Given the description of an element on the screen output the (x, y) to click on. 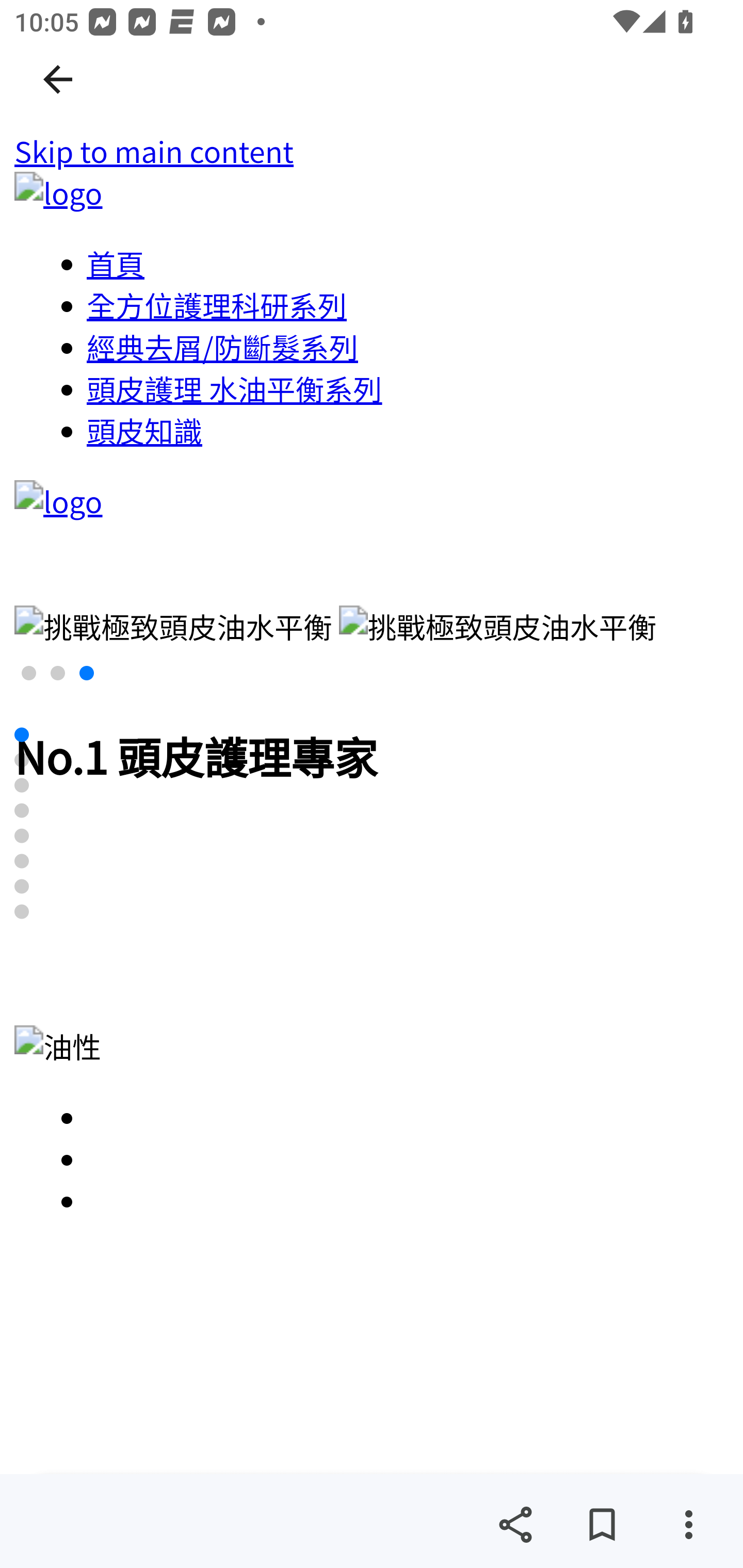
Navigate up (57, 79)
skip-main Skip to main content (154, 152)
header-logo logo (58, 192)
home-index 首頁 (115, 263)
professional-anti-dandruff-shampoo 全方位護理科研系列 (217, 304)
anti-dandruff-care-shampoo 經典去屑/防斷髮系列 (222, 346)
water-oil-balance-scalp-shampoo 頭皮護理 水油平衡系列 (234, 387)
hair-scalp-collage 頭皮知識 (144, 430)
header-logo logo (58, 501)
Go to slide 1 (21, 734)
Go to slide 2 (21, 759)
Go to slide 3 (21, 785)
Go to slide 4 (21, 810)
Go to slide 5 (21, 835)
Go to slide 6 (21, 860)
Go to slide 7 (21, 886)
Go to slide 8 (21, 911)
anti-dandruff-care-shampoo (408, 1117)
water-oil-balance-scalp-shampoo (408, 1158)
professional-anti-dandruff-shampoo (408, 1200)
Share (514, 1524)
Save for later (601, 1524)
More options (688, 1524)
